Given the description of an element on the screen output the (x, y) to click on. 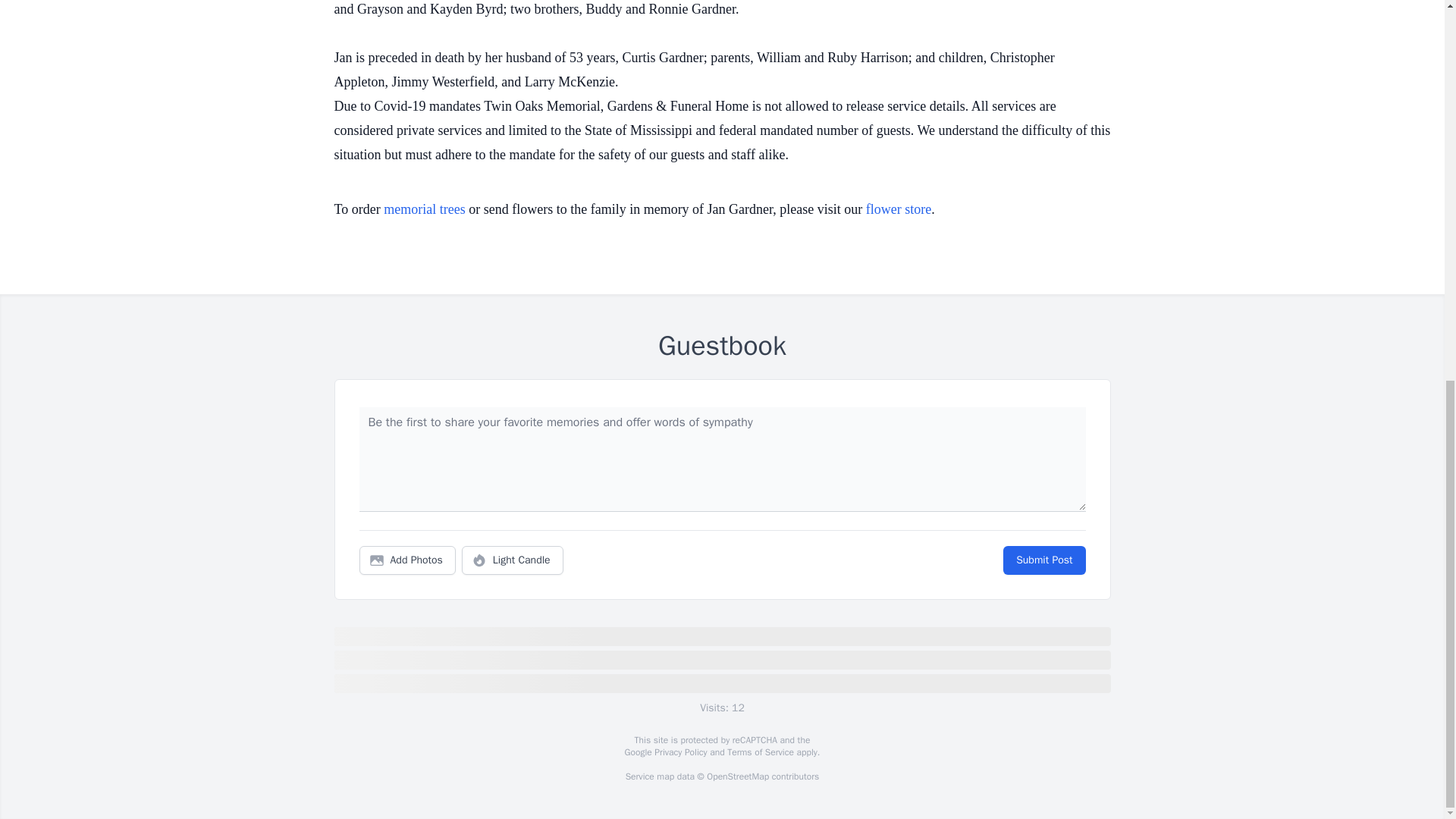
Submit Post (1043, 560)
Add Photos (407, 560)
flower store (898, 209)
Privacy Policy (679, 752)
memorial trees (424, 209)
OpenStreetMap (737, 776)
Light Candle (512, 560)
Terms of Service (759, 752)
